Given the description of an element on the screen output the (x, y) to click on. 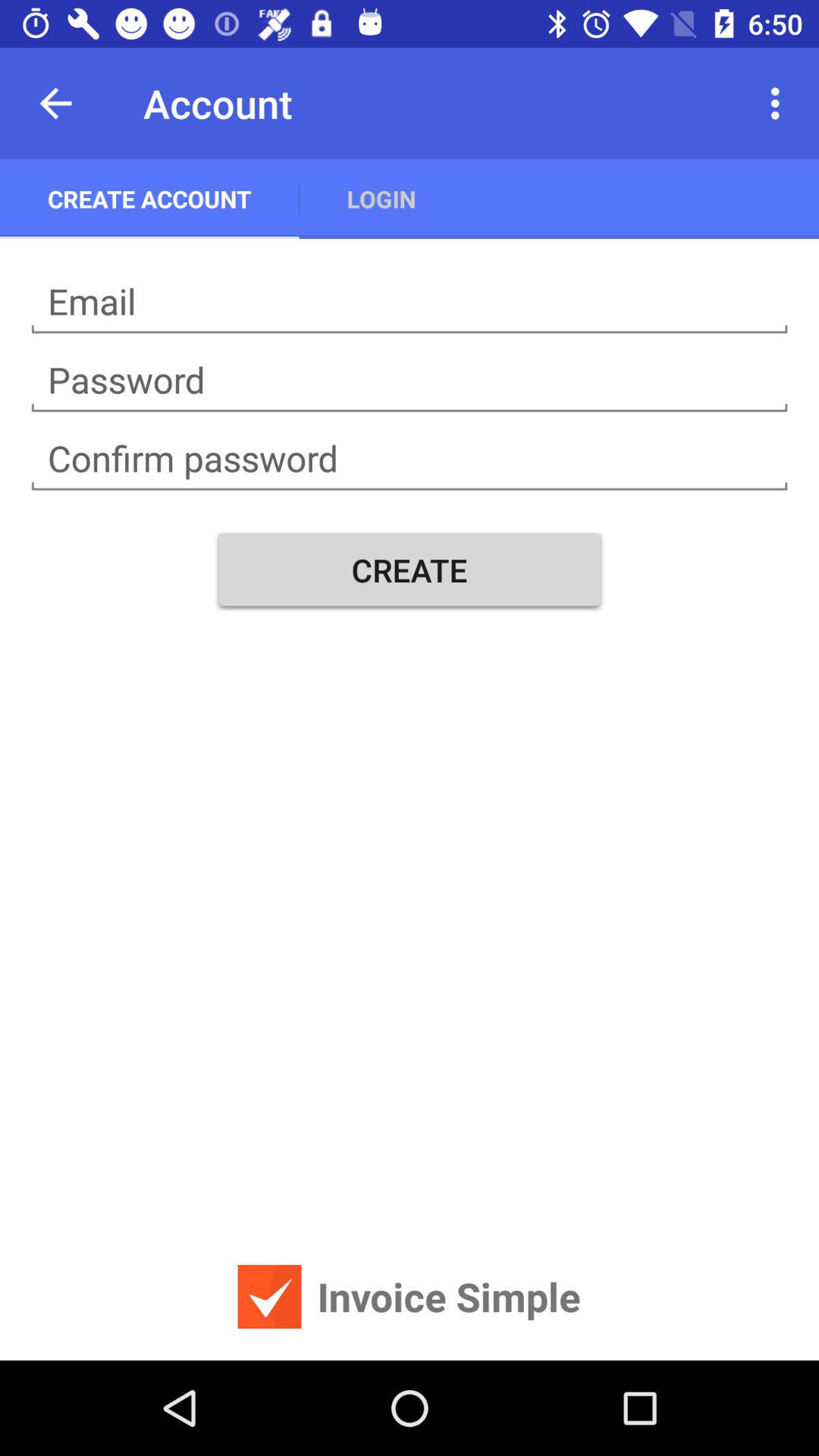
click app to the right of the create account (381, 198)
